Given the description of an element on the screen output the (x, y) to click on. 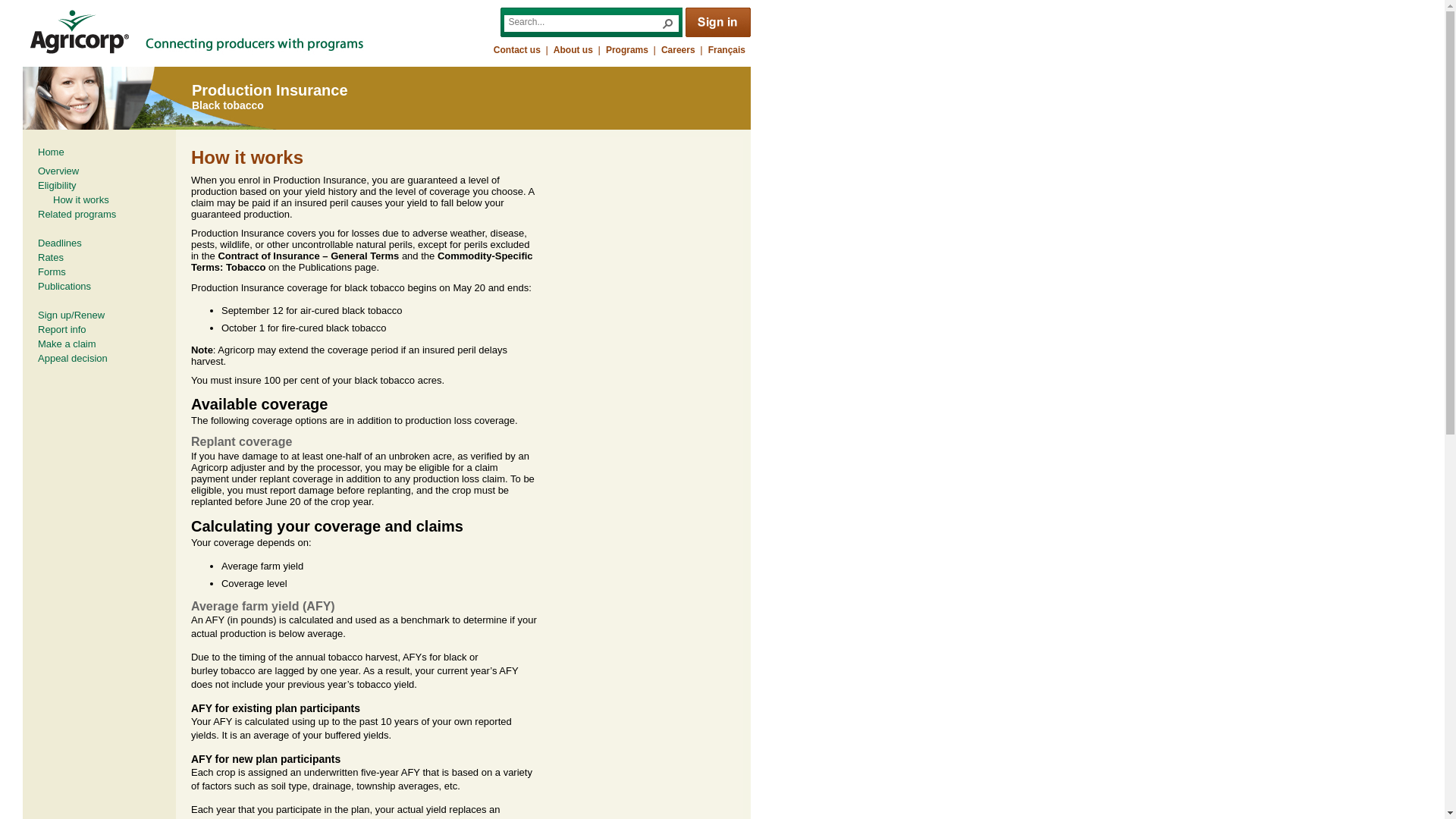
Programs (626, 50)
About us (572, 50)
Eligibility (80, 186)
Programs (626, 50)
About us (572, 50)
Forms (80, 273)
Deadlines (80, 244)
Related programs (78, 214)
How it works (80, 201)
Overview (59, 170)
